Given the description of an element on the screen output the (x, y) to click on. 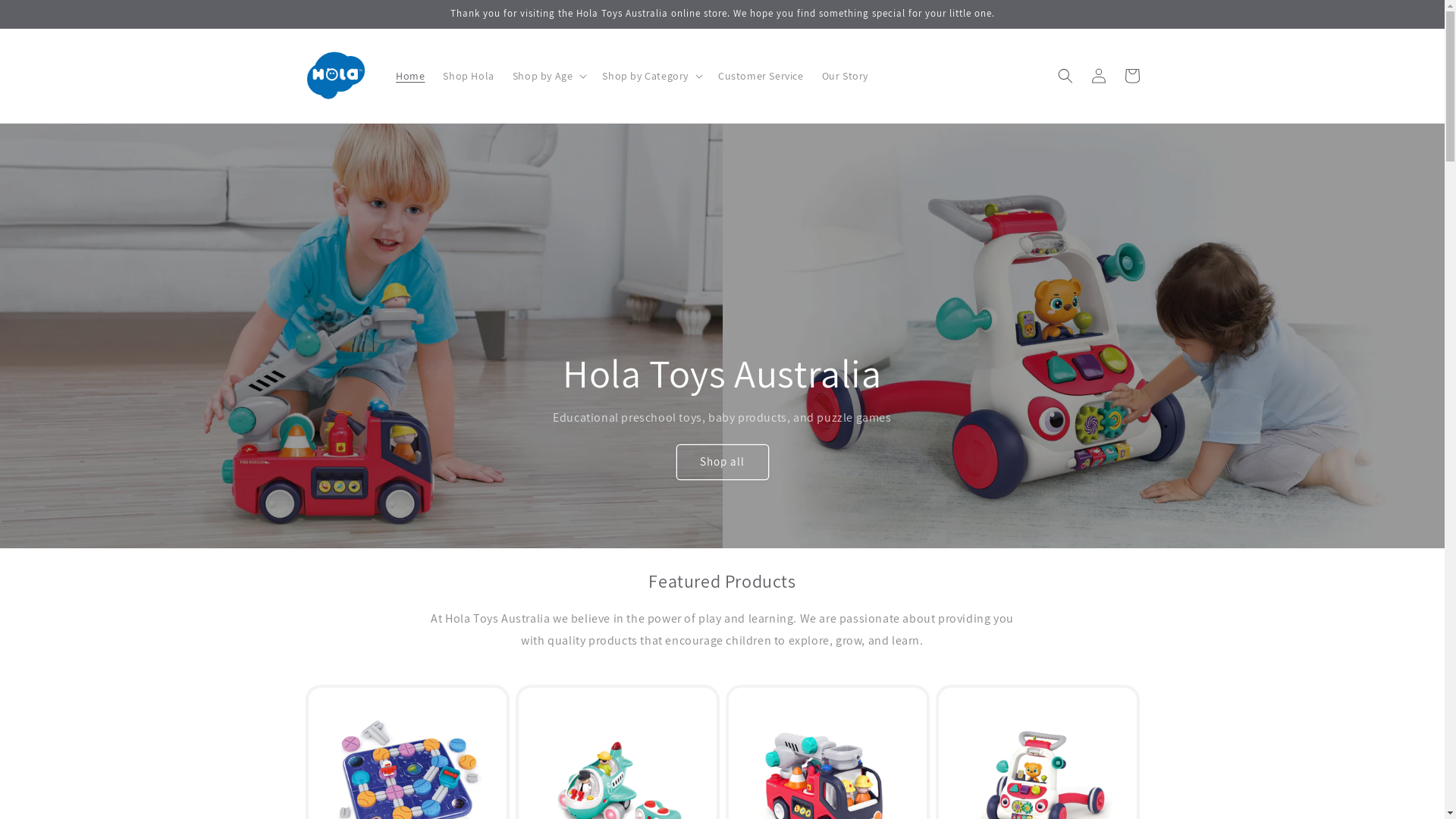
Shop all Element type: text (722, 462)
Our Story Element type: text (844, 75)
Customer Service Element type: text (760, 75)
Shop Hola Element type: text (467, 75)
Home Element type: text (409, 75)
Cart Element type: text (1131, 75)
Log in Element type: text (1097, 75)
